Given the description of an element on the screen output the (x, y) to click on. 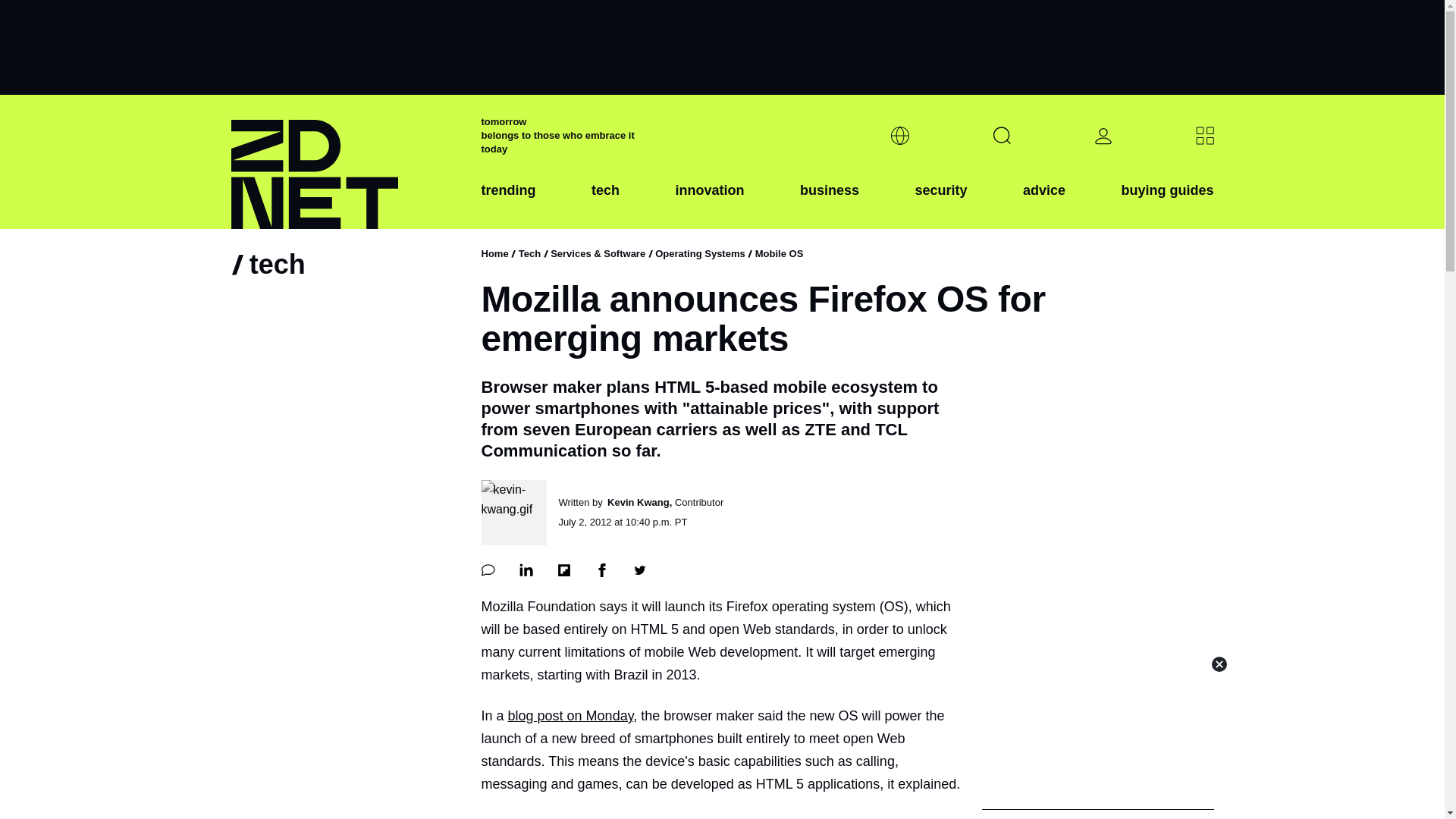
ZDNET (346, 162)
trending (507, 202)
